Given the description of an element on the screen output the (x, y) to click on. 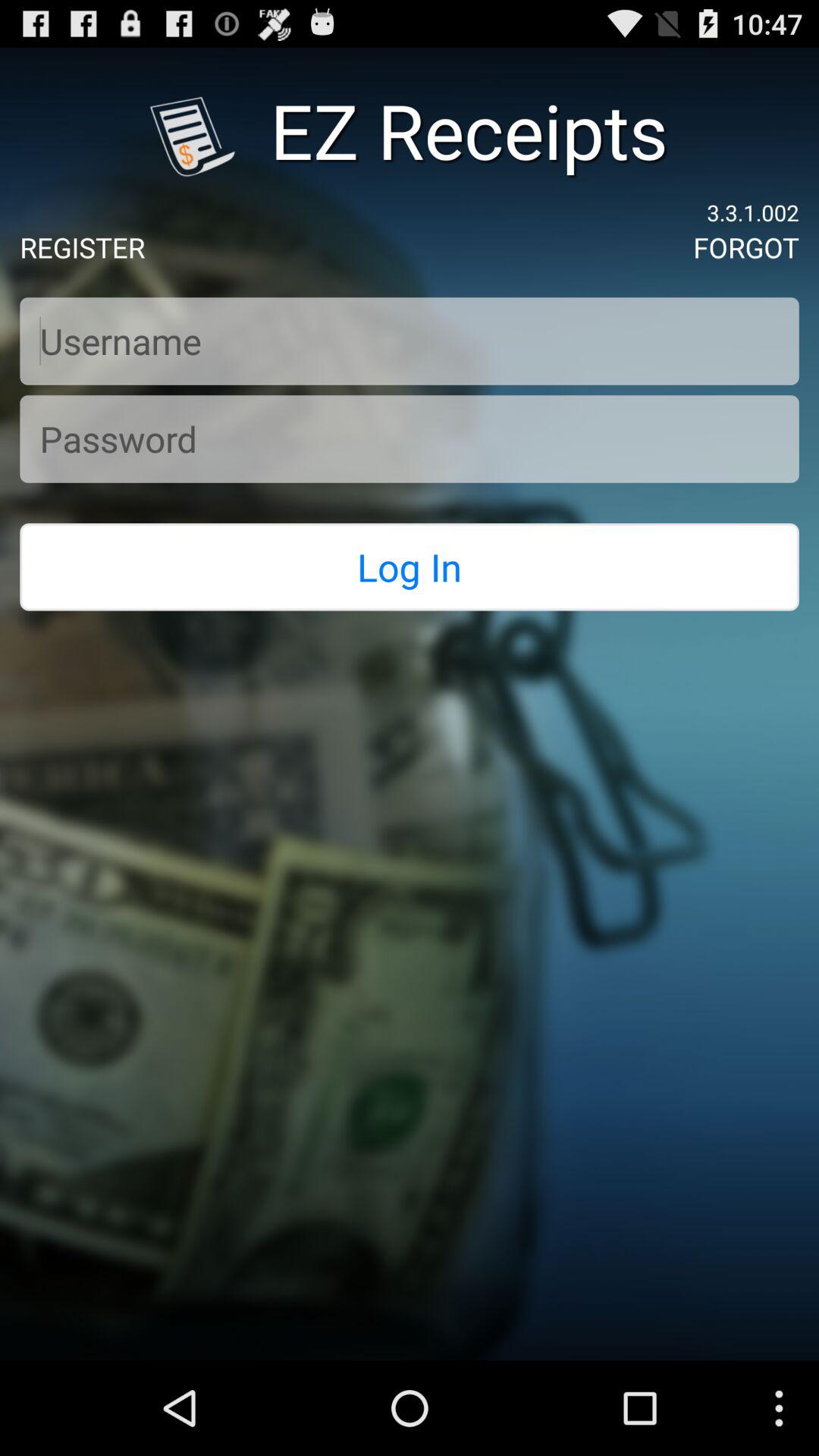
select the forgot (746, 247)
